Given the description of an element on the screen output the (x, y) to click on. 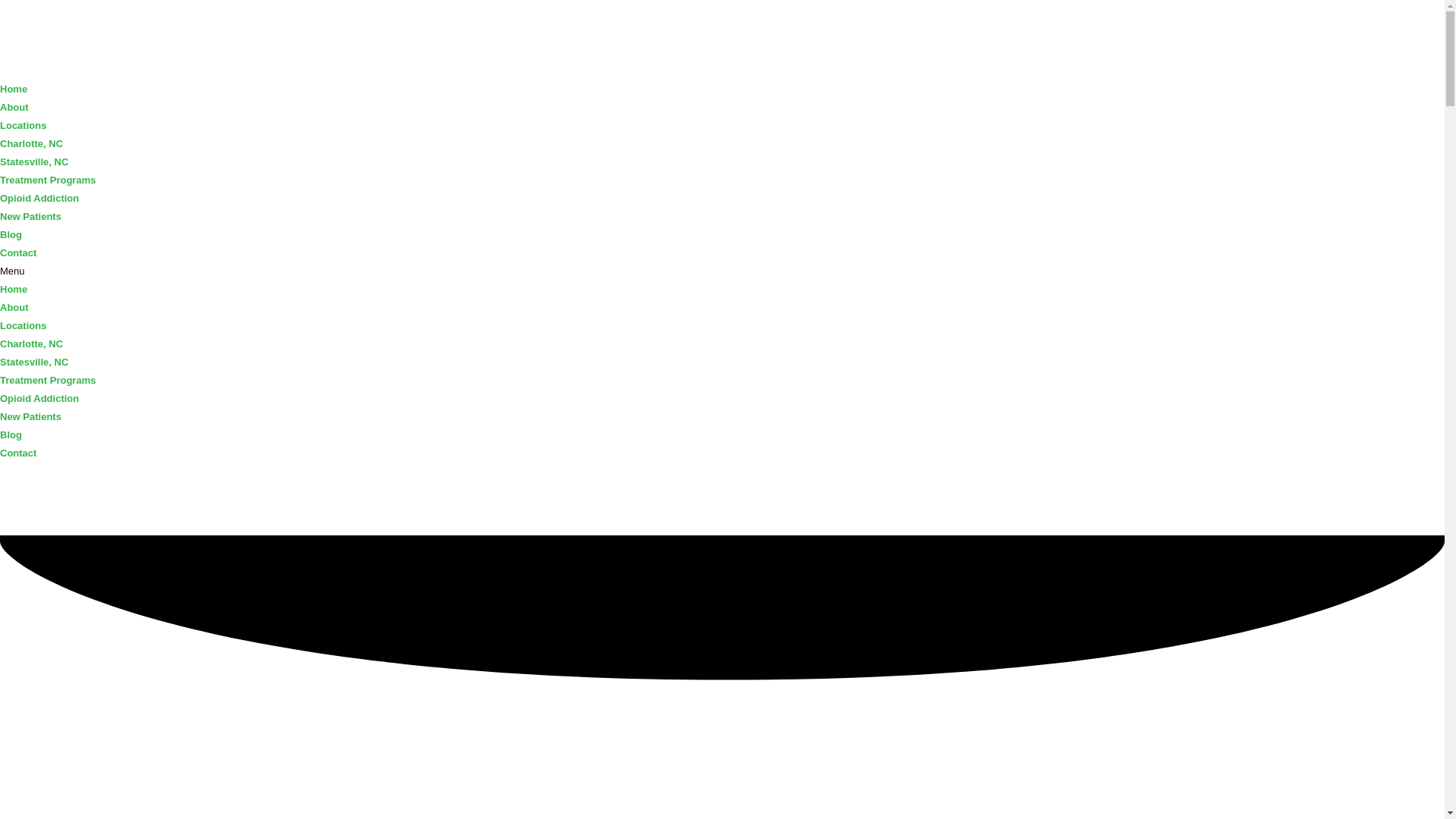
New Patients (30, 416)
Charlotte, NC (31, 143)
Opioid Addiction (39, 398)
Blog (10, 434)
Contact (18, 252)
Opioid Addiction (39, 197)
About (14, 107)
About (14, 307)
New Patients (30, 215)
Treatment Programs (48, 379)
